Given the description of an element on the screen output the (x, y) to click on. 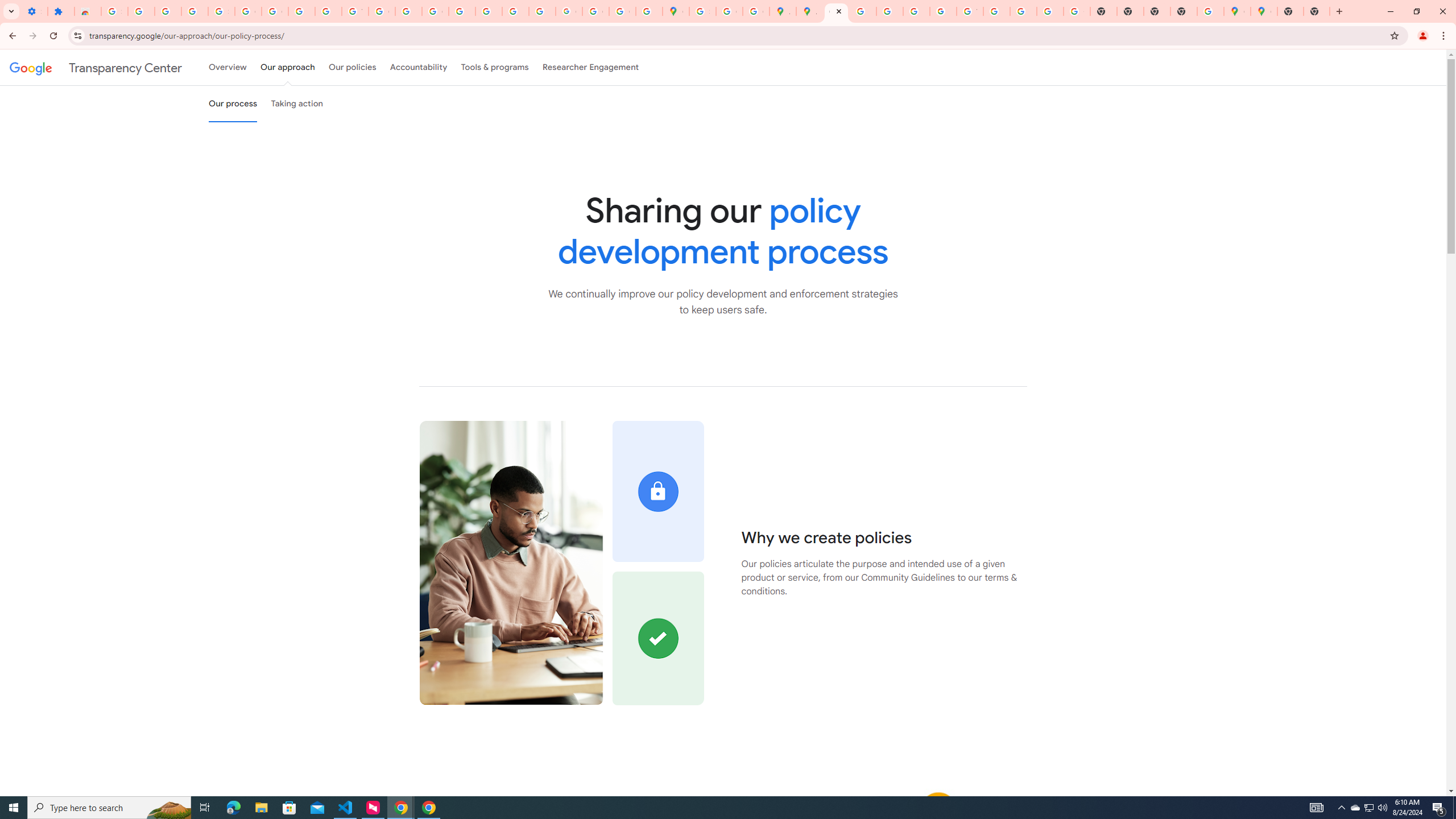
Use Google Maps in Space - Google Maps Help (1210, 11)
Google Maps (1263, 11)
Transparency Center (95, 67)
Google Maps (1236, 11)
Our process (232, 103)
Delete photos & videos - Computer - Google Photos Help (141, 11)
Sign in - Google Accounts (221, 11)
